Given the description of an element on the screen output the (x, y) to click on. 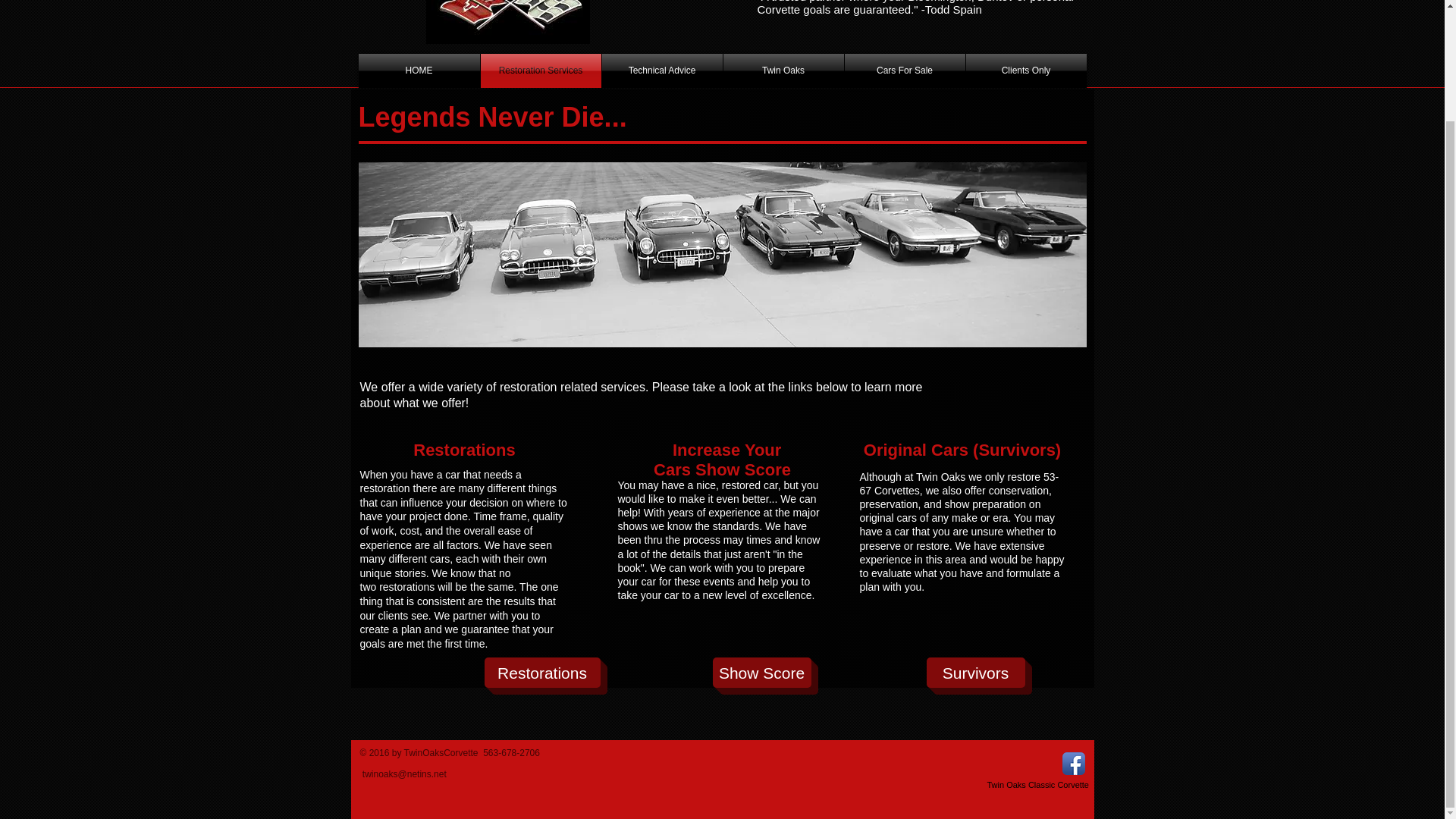
Clients Only (1026, 70)
Facebook Like (1016, 765)
Cars For Sale (904, 70)
Restorations (541, 672)
Restoration Services (540, 70)
Survivors (975, 672)
HOME (418, 70)
Technical Advice (662, 70)
Twin Oaks (783, 70)
